Given the description of an element on the screen output the (x, y) to click on. 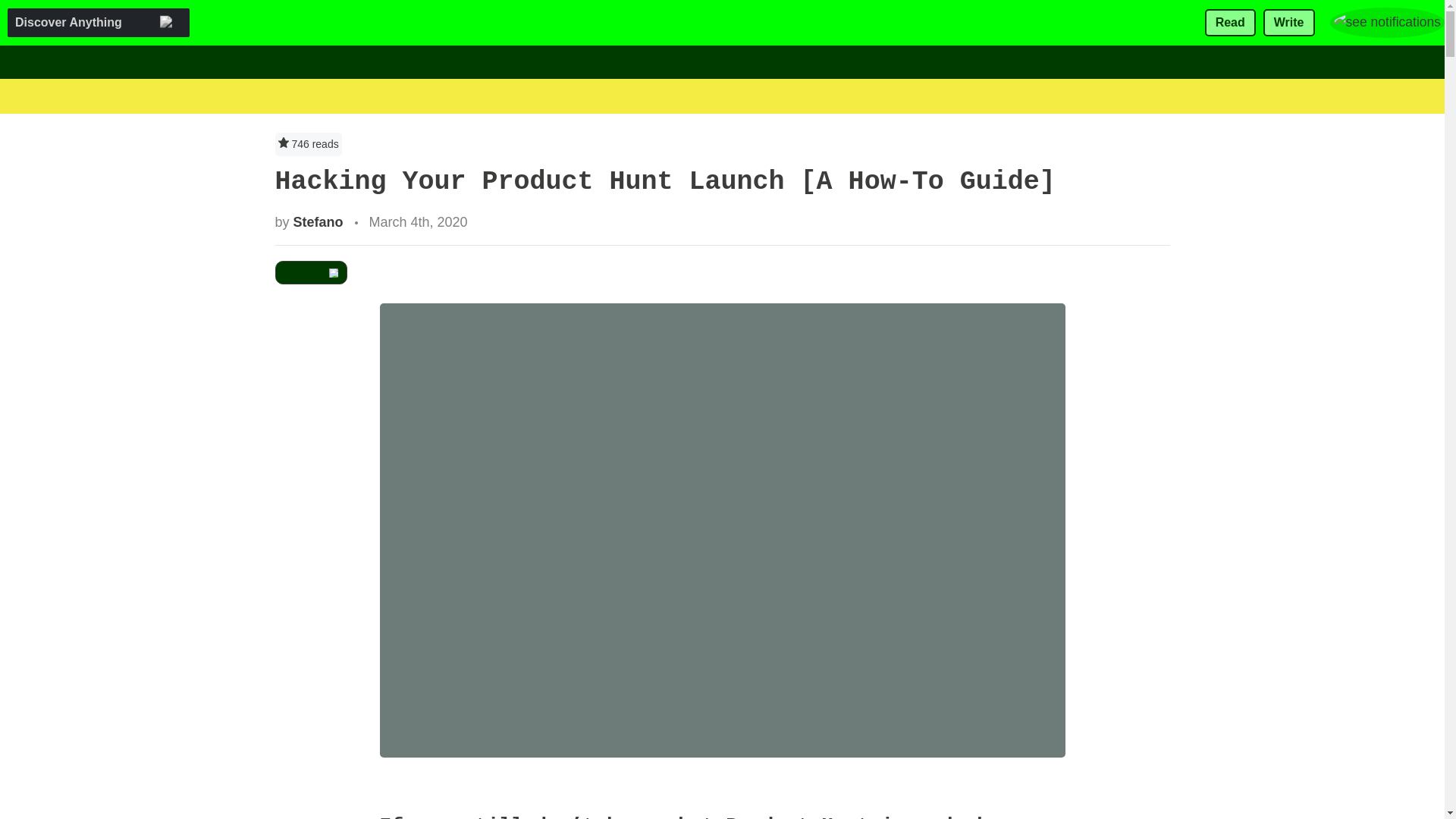
Read (1230, 22)
Stefano (318, 222)
Write (1288, 22)
